Given the description of an element on the screen output the (x, y) to click on. 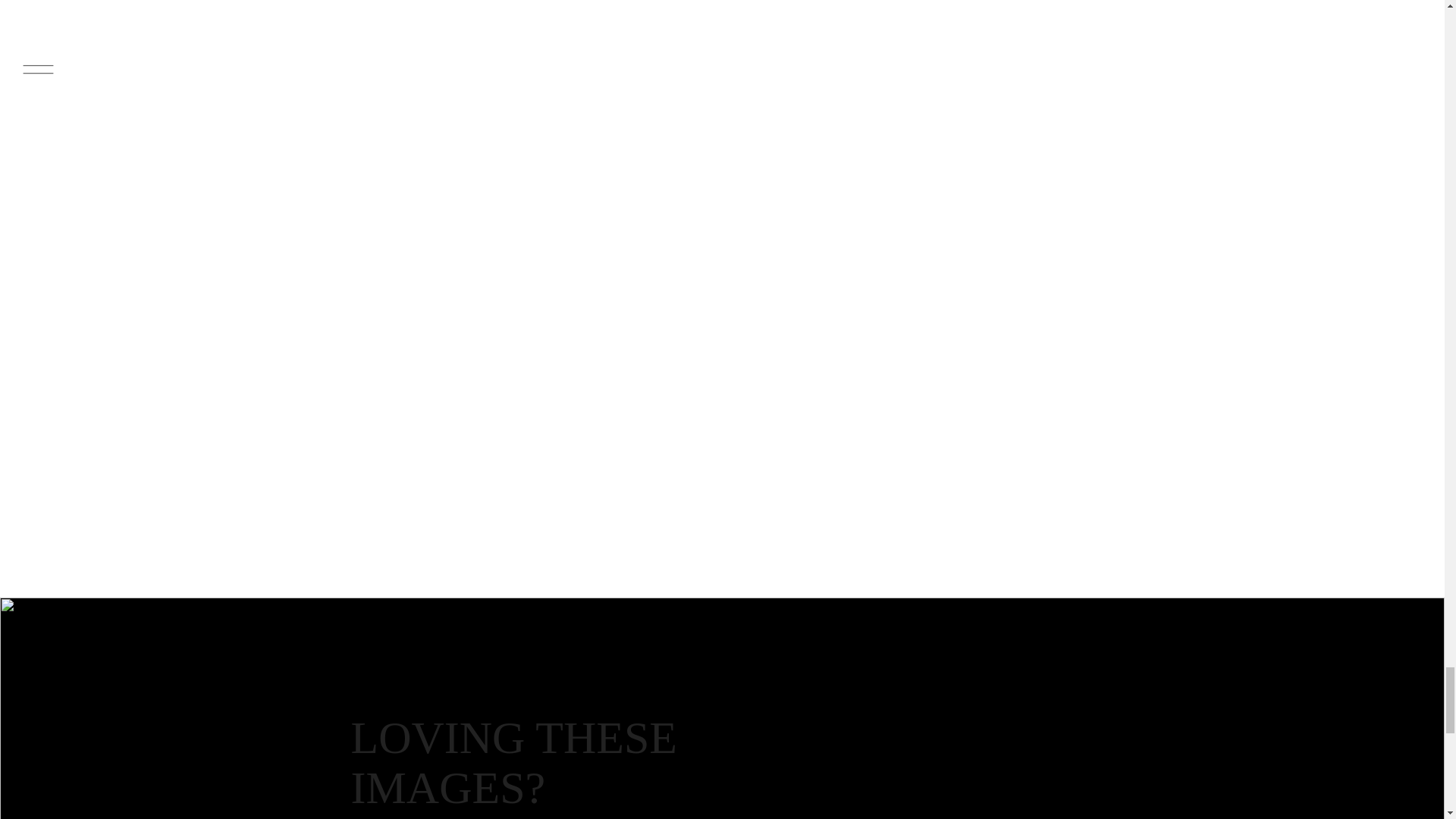
LOVING THESE IMAGES? (517, 762)
